Given the description of an element on the screen output the (x, y) to click on. 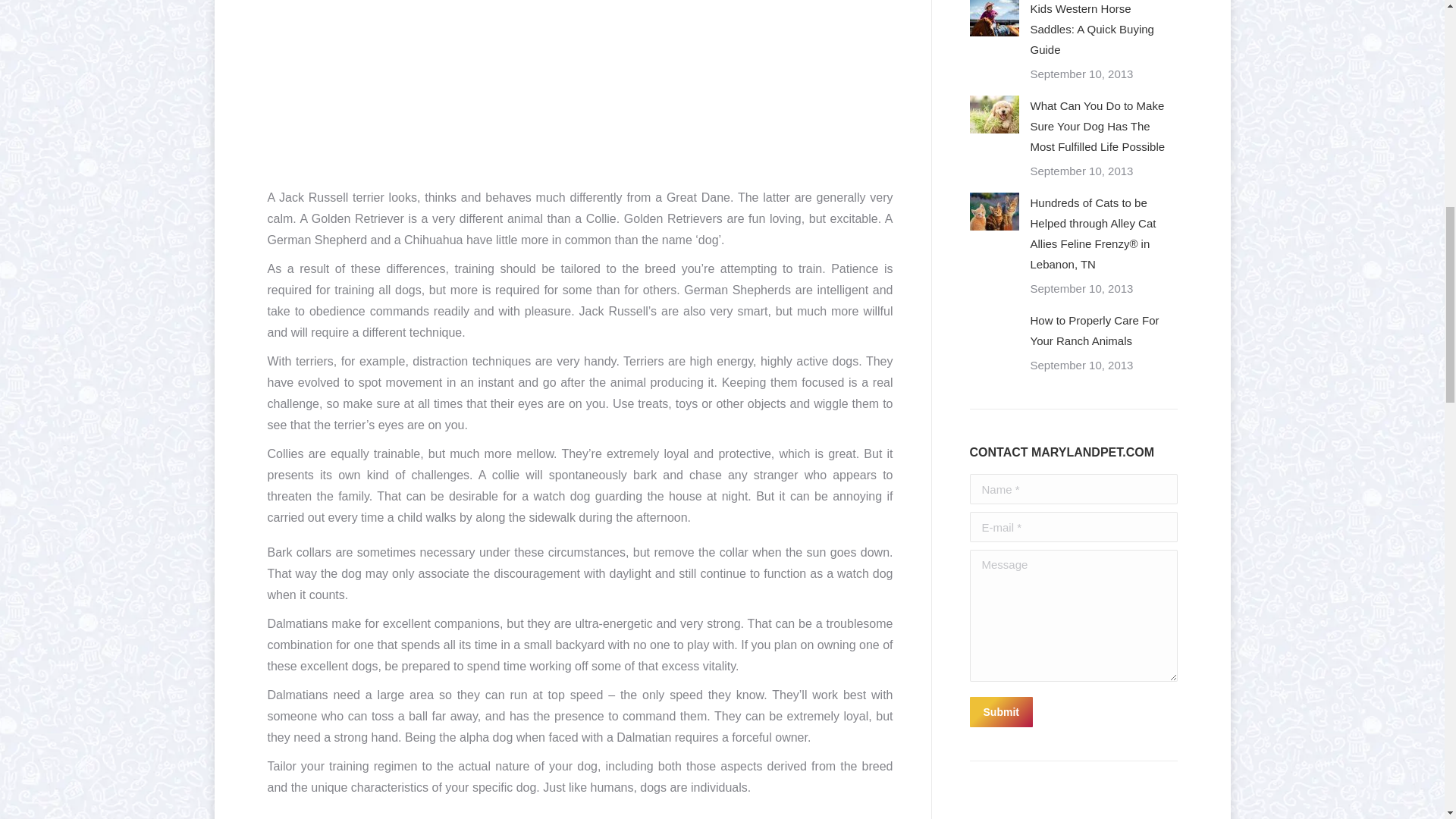
submit (1073, 713)
